Given the description of an element on the screen output the (x, y) to click on. 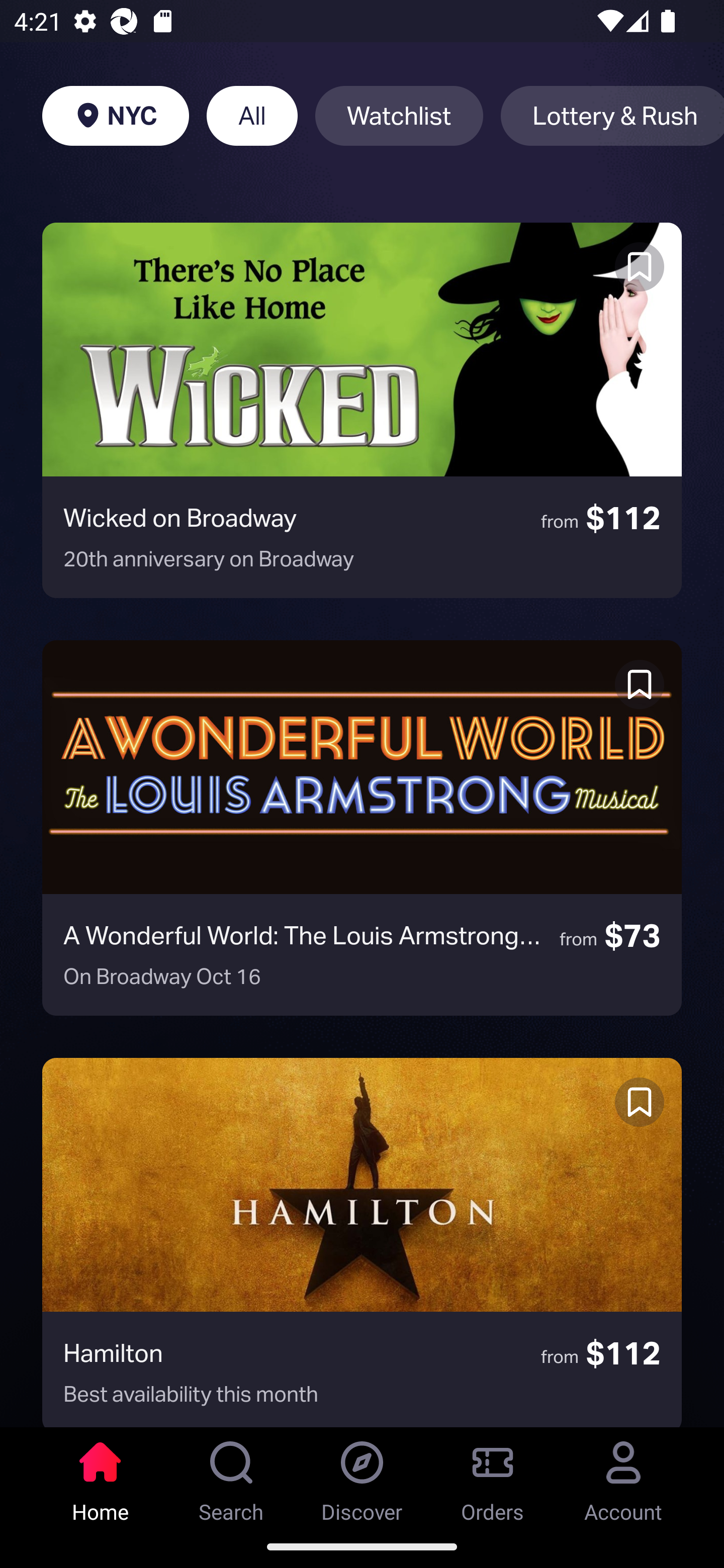
NYC (114, 115)
All (251, 115)
Watchlist (398, 115)
Lottery & Rush (612, 115)
Hamilton from $112 Best availability this month (361, 1242)
Search (230, 1475)
Discover (361, 1475)
Orders (492, 1475)
Account (623, 1475)
